Given the description of an element on the screen output the (x, y) to click on. 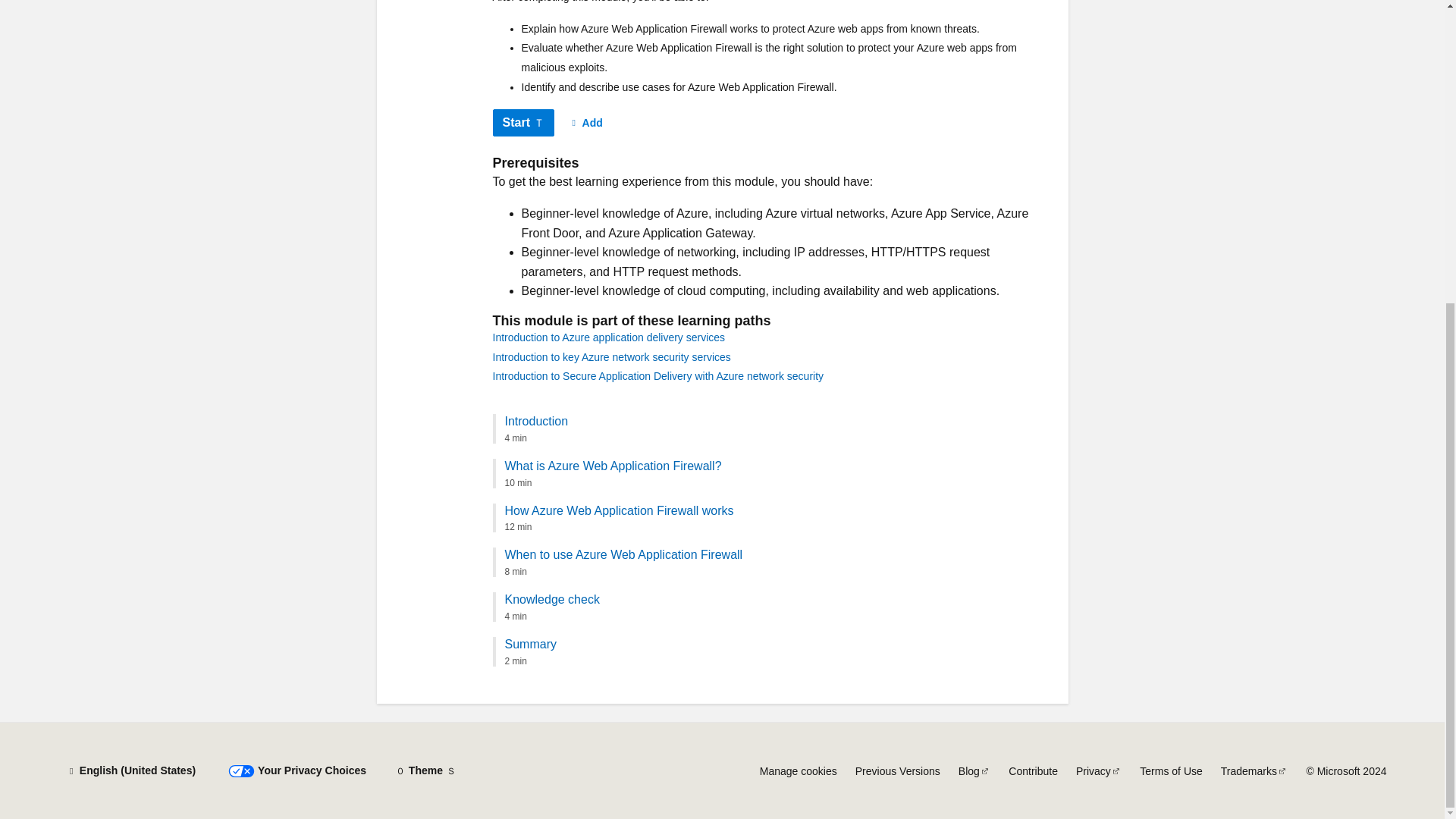
Theme (425, 770)
